Given the description of an element on the screen output the (x, y) to click on. 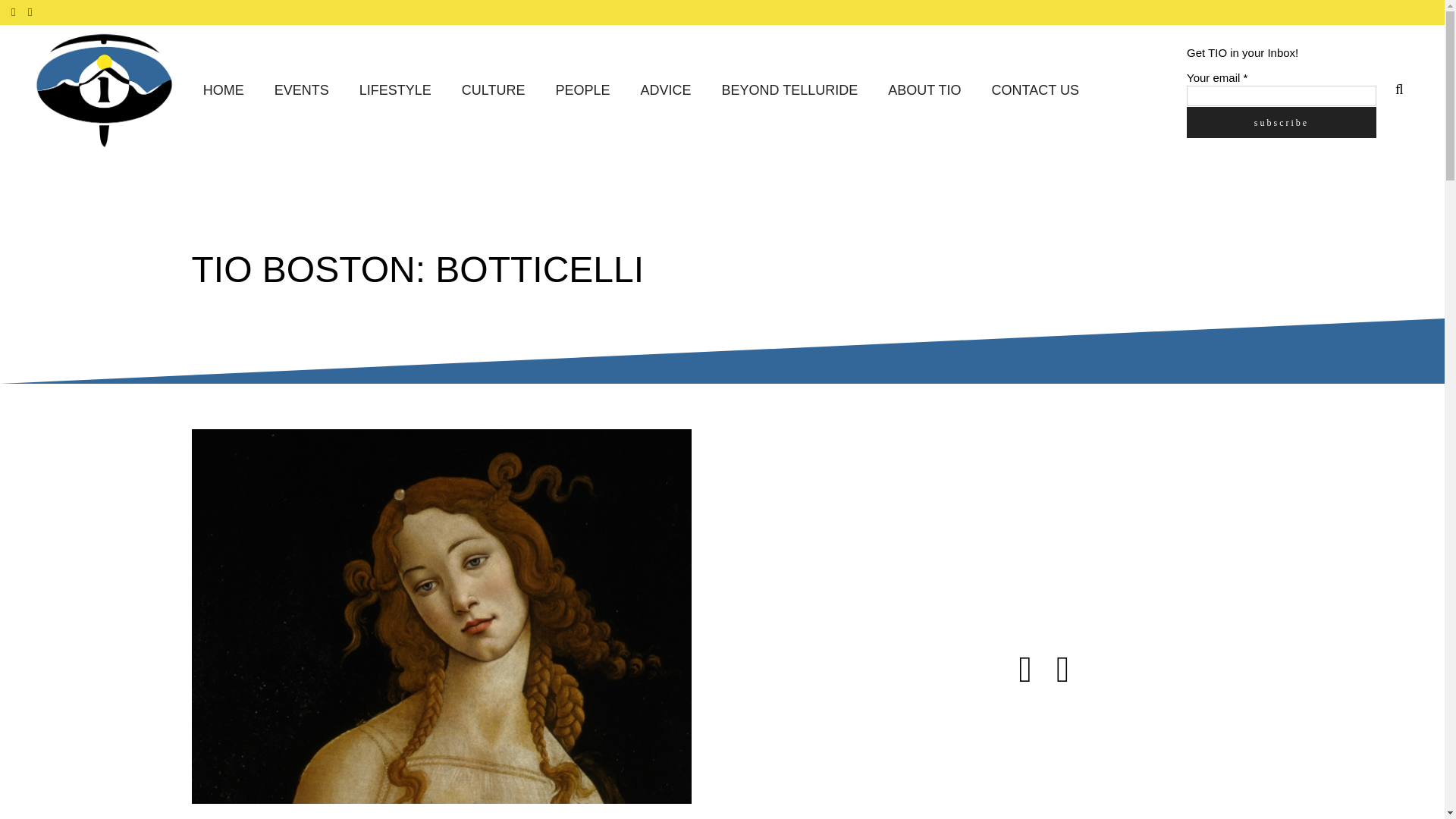
EVENTS (301, 90)
3rd party ad content (1116, 760)
PEOPLE (582, 90)
Subscribe (1280, 121)
HOME (223, 90)
3rd party ad content (1116, 524)
CONTACT US (1035, 90)
Subscribe (1280, 121)
ABOUT TIO (923, 90)
ADVICE (665, 90)
LIFESTYLE (394, 90)
CULTURE (493, 90)
Your email (1280, 95)
BEYOND TELLURIDE (789, 90)
